Given the description of an element on the screen output the (x, y) to click on. 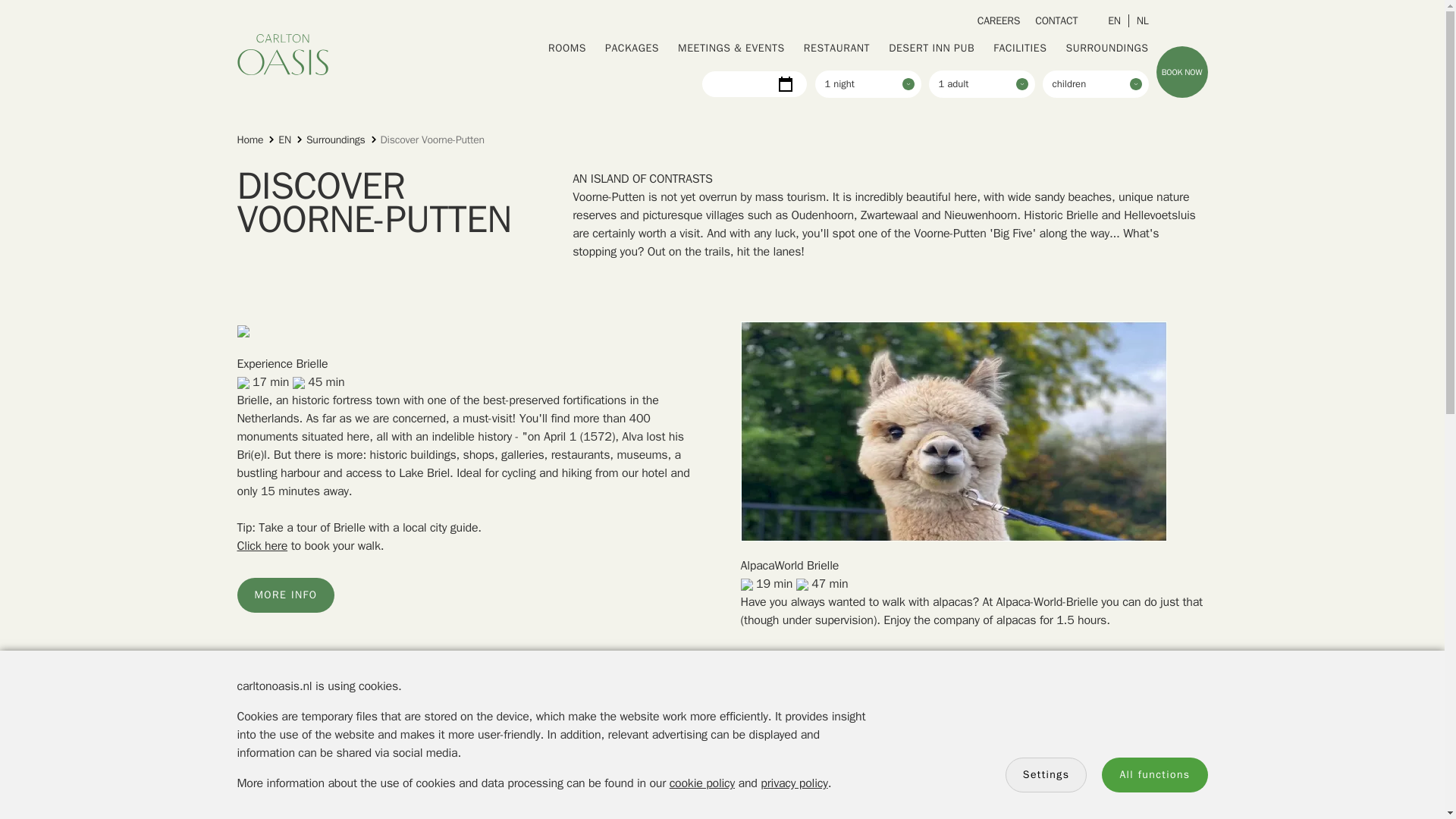
Surroundings (328, 139)
CAREERS (998, 20)
RESTAURANT (836, 48)
EN (277, 139)
Home (249, 139)
ROOMS (567, 48)
Discover Voorne-Putten (424, 139)
SURROUNDINGS (1106, 48)
BOOK NOW (1181, 71)
PACKAGES (632, 48)
